Given the description of an element on the screen output the (x, y) to click on. 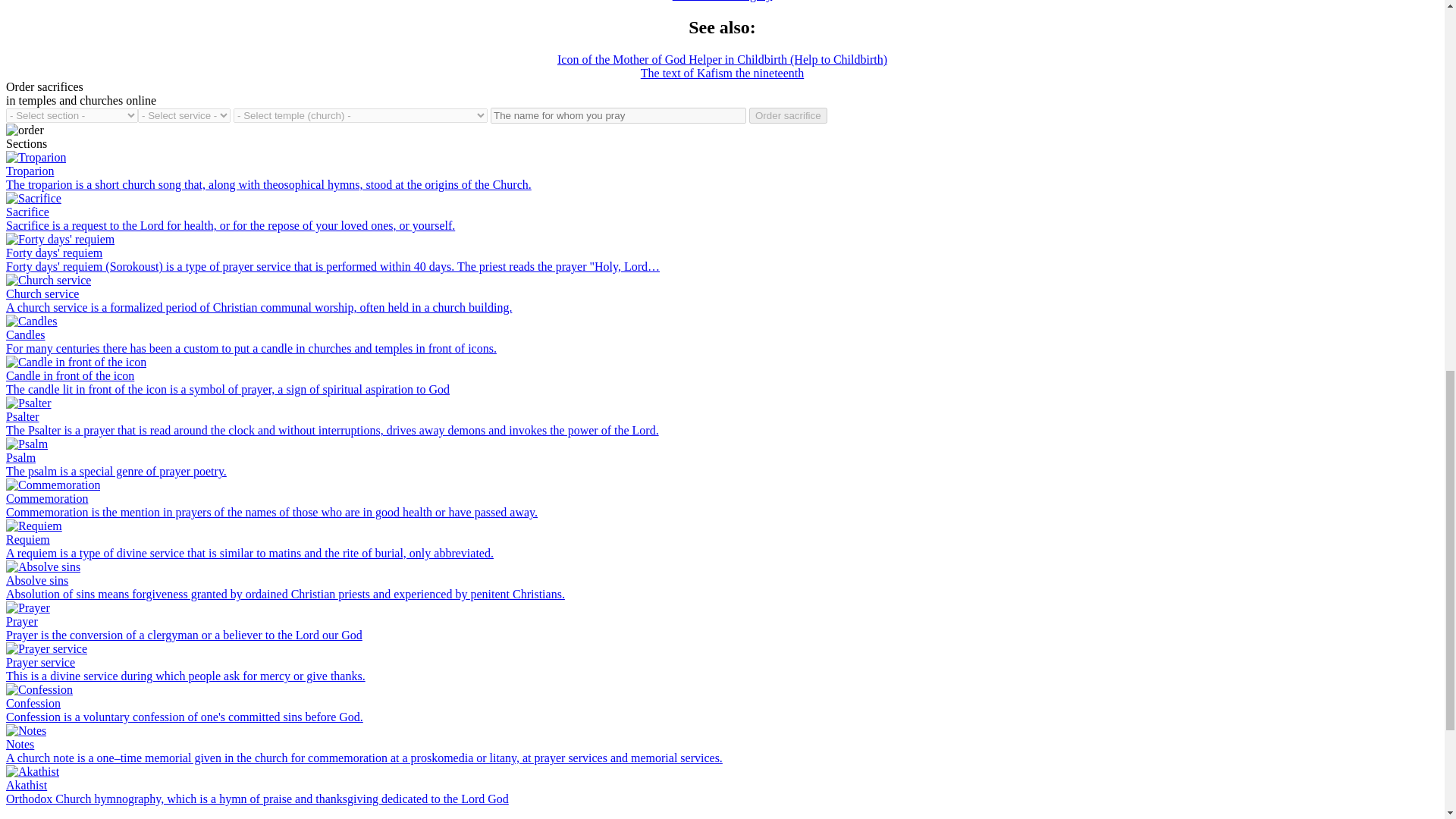
Order sacrifice (788, 115)
Previous in category (722, 0)
Order sacrifice (788, 115)
The text of Kafism the nineteenth (721, 72)
